Given the description of an element on the screen output the (x, y) to click on. 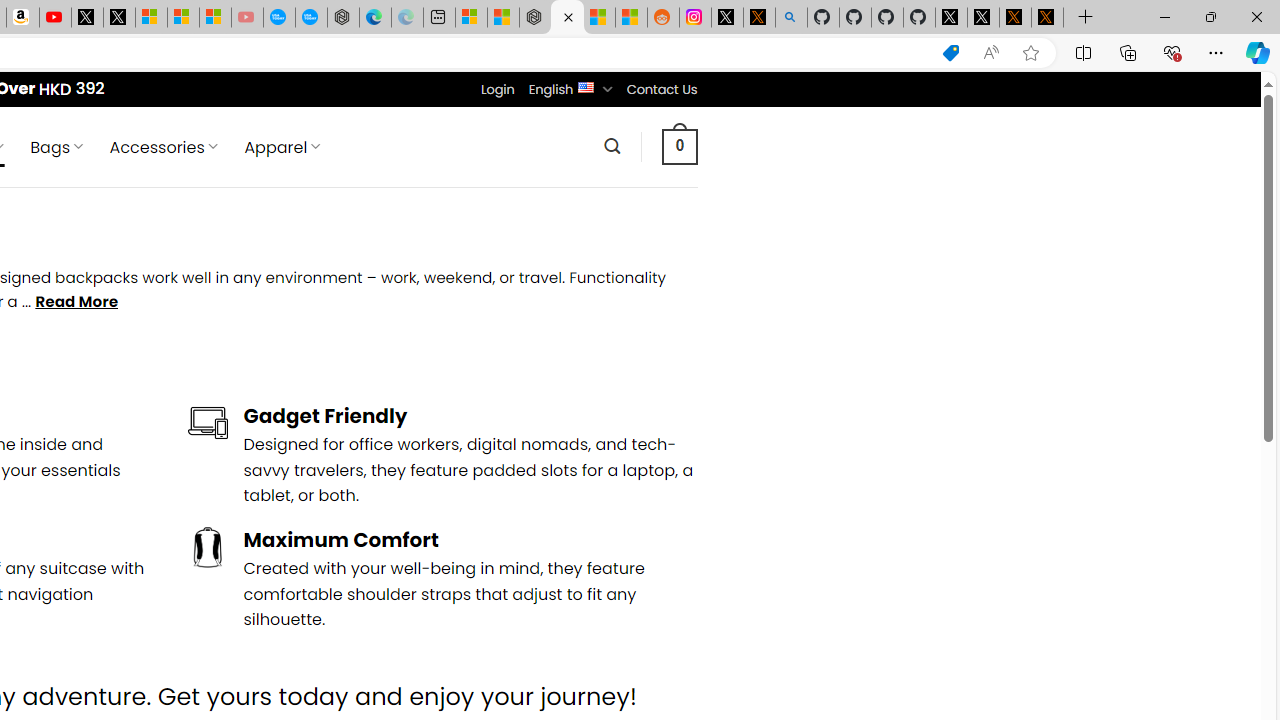
This site has coupons! Shopping in Microsoft Edge (950, 53)
Nordace - Backpacks (566, 17)
Profile / X (950, 17)
Nordace - Nordace has arrived Hong Kong (343, 17)
X Privacy Policy (1047, 17)
Microsoft account | Microsoft Account Privacy Settings (471, 17)
Opinion: Op-Ed and Commentary - USA TODAY (279, 17)
English (586, 86)
